Given the description of an element on the screen output the (x, y) to click on. 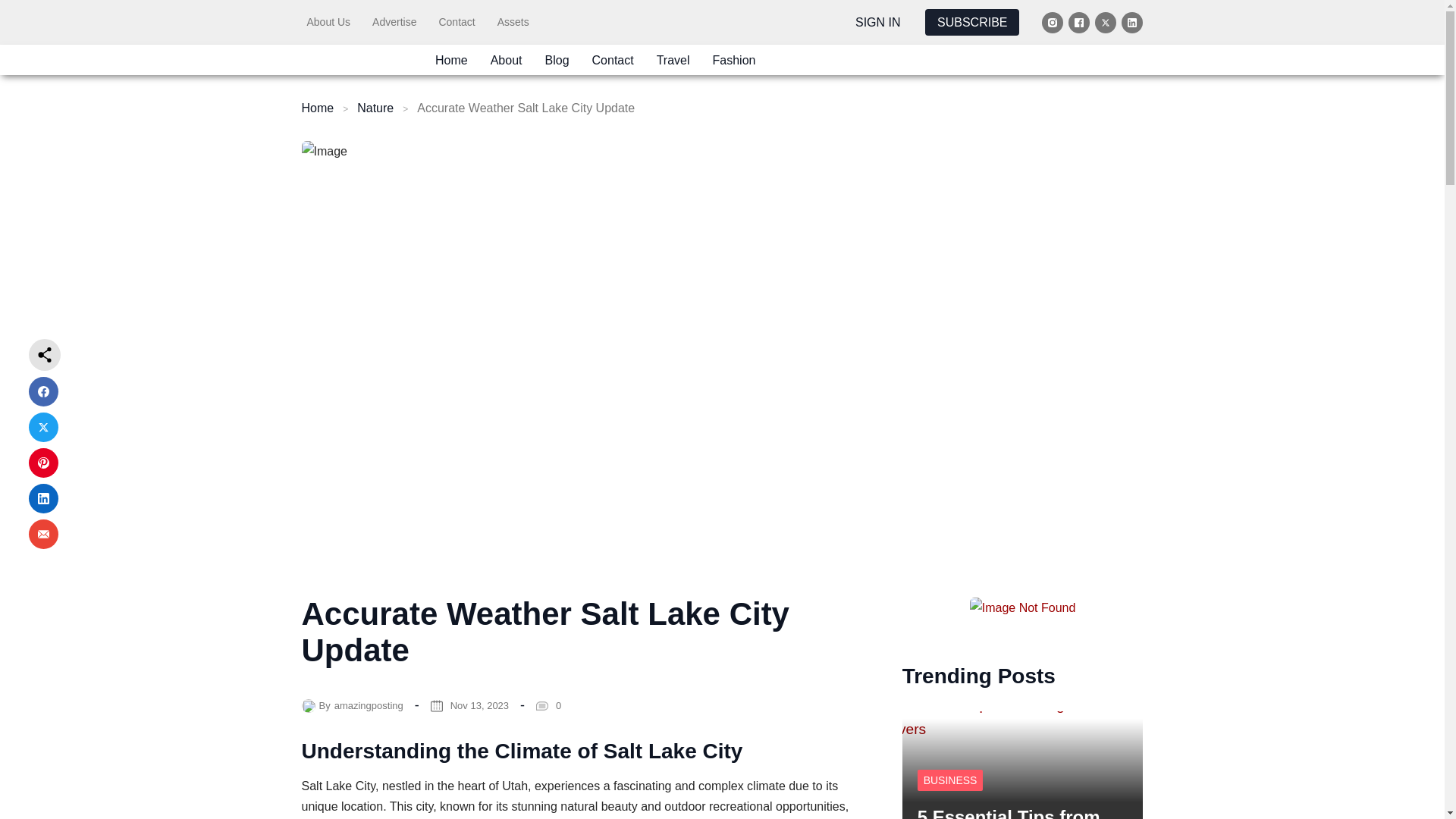
Blog (556, 59)
Nature (374, 107)
SUBSCRIBE (971, 22)
Travel (673, 59)
Advertise (394, 21)
Fashion (734, 59)
amazingposting (368, 705)
Home (451, 59)
Assets (513, 21)
About (506, 59)
